Given the description of an element on the screen output the (x, y) to click on. 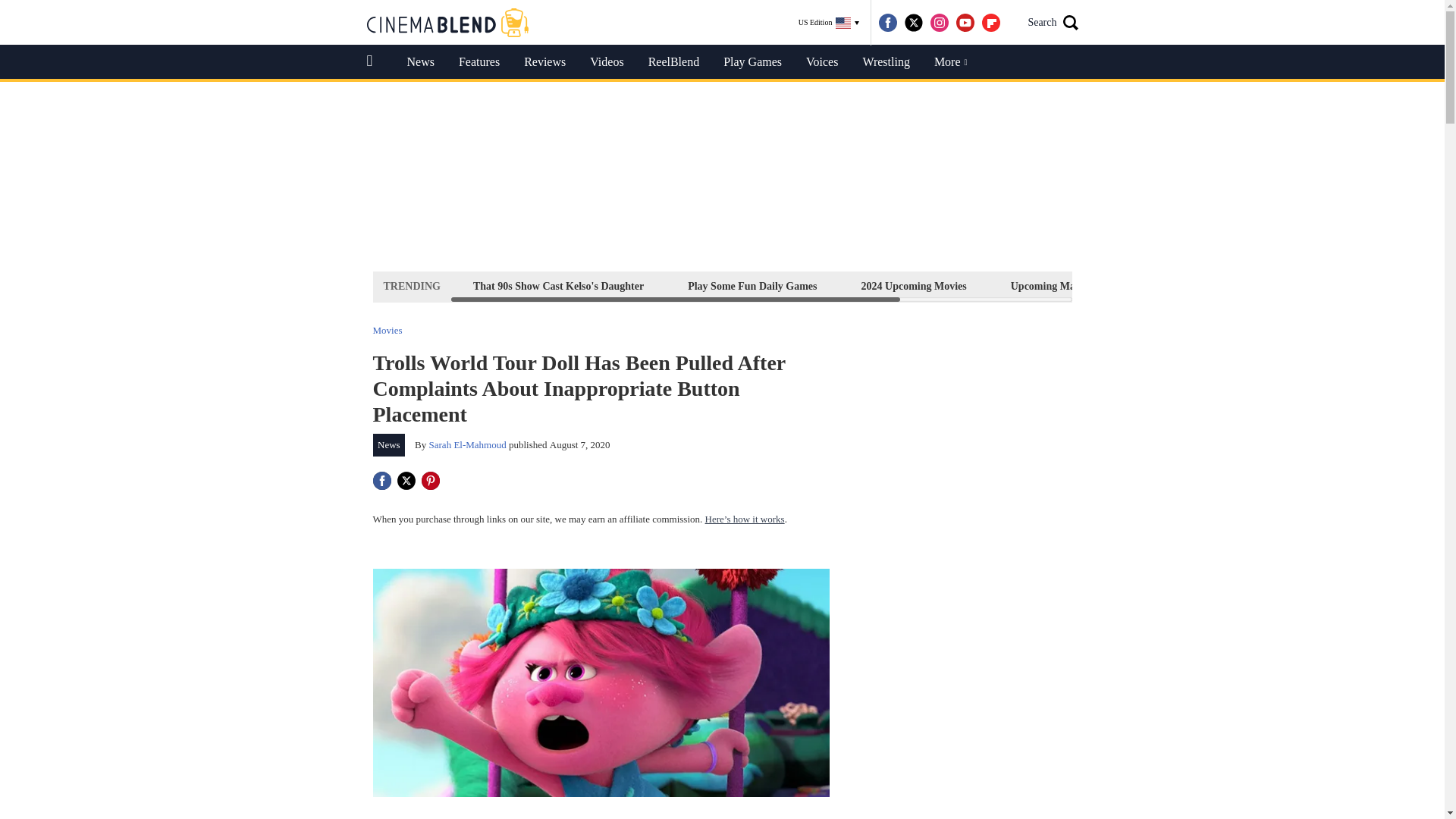
Voices (821, 61)
Wrestling (885, 61)
Videos (606, 61)
US Edition (828, 22)
Play Some Fun Daily Games (752, 286)
Features (479, 61)
2024 Upcoming Movies (914, 286)
That 90s Show Cast Kelso's Daughter (558, 286)
ReelBlend (673, 61)
Upcoming Marvel Movies (1070, 286)
